Given the description of an element on the screen output the (x, y) to click on. 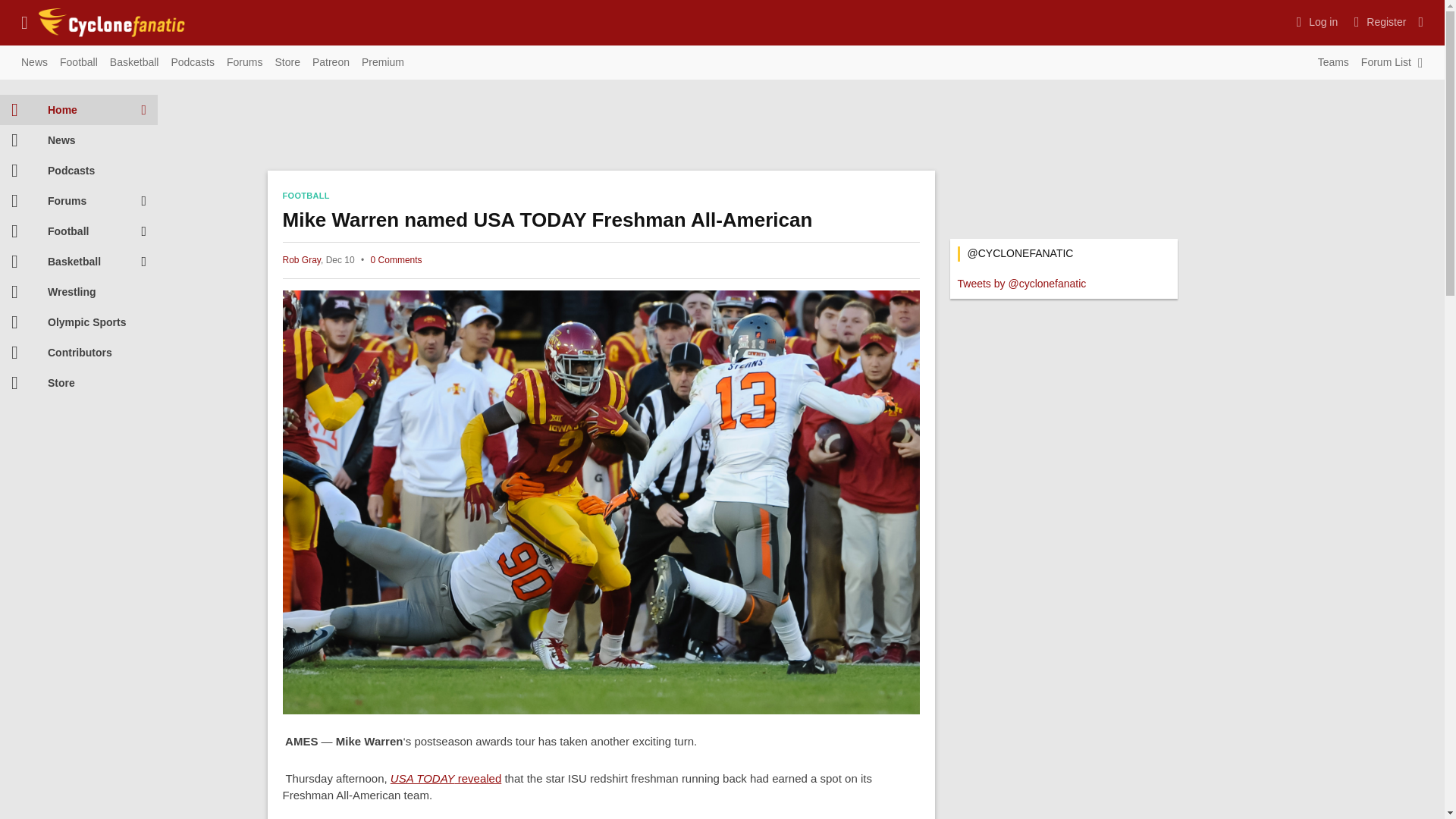
Log in (1314, 21)
Store (286, 63)
Forum List (1385, 63)
3rd party ad content (1062, 135)
Premium (382, 63)
Forums (244, 63)
News (33, 63)
Basketball (134, 63)
Football (78, 63)
Patreon (330, 63)
3rd party ad content (600, 128)
Register (1377, 21)
Teams (1333, 63)
